Given the description of an element on the screen output the (x, y) to click on. 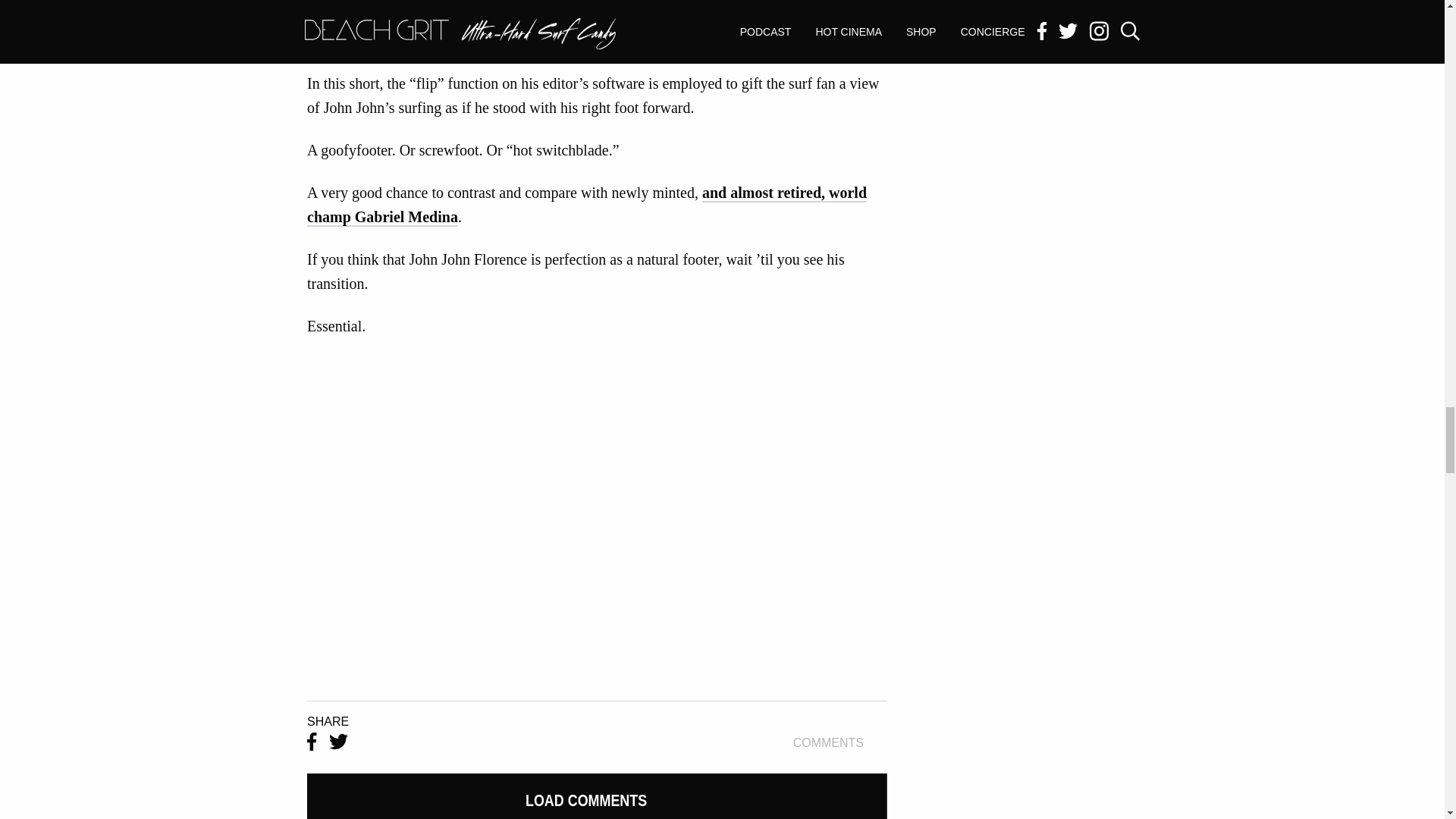
and almost retired, world champ Gabriel Medina (839, 742)
